Given the description of an element on the screen output the (x, y) to click on. 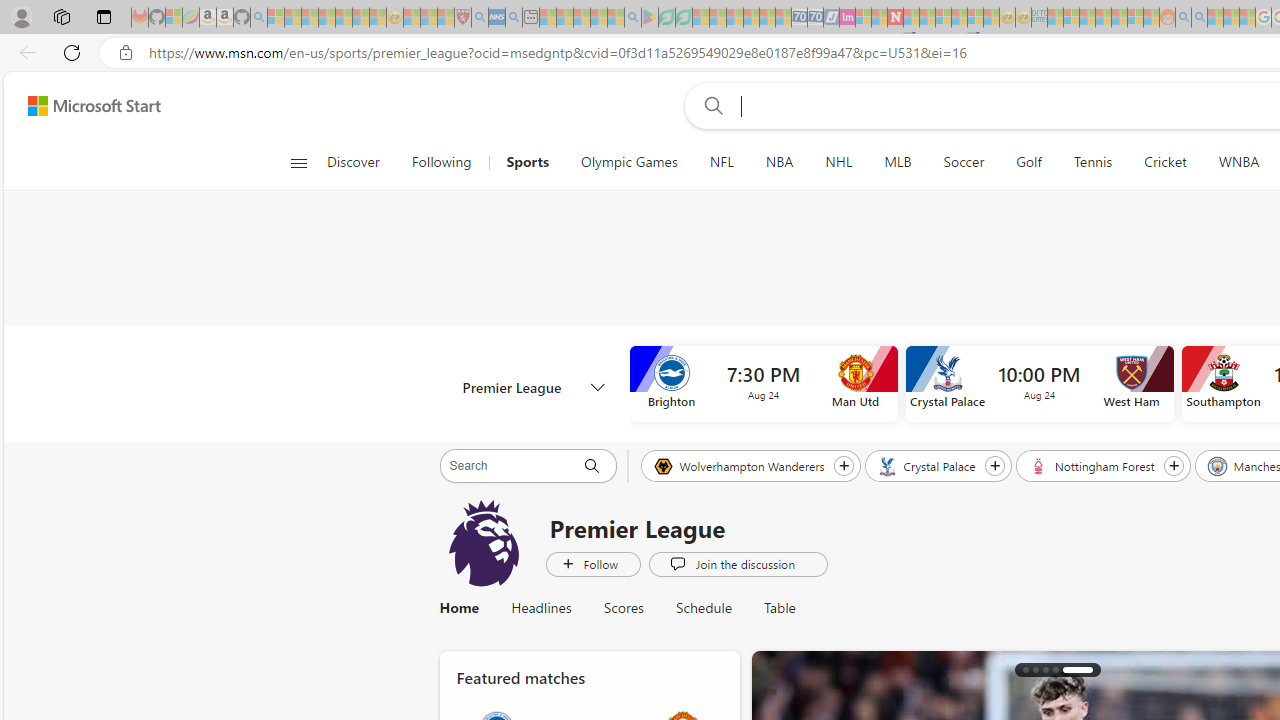
Headlines (541, 607)
WNBA (1238, 162)
MLB (897, 162)
Cricket (1165, 162)
Crystal Palace vs West Ham Time 10:00 PM Date Aug 24 (1038, 383)
